Given the description of an element on the screen output the (x, y) to click on. 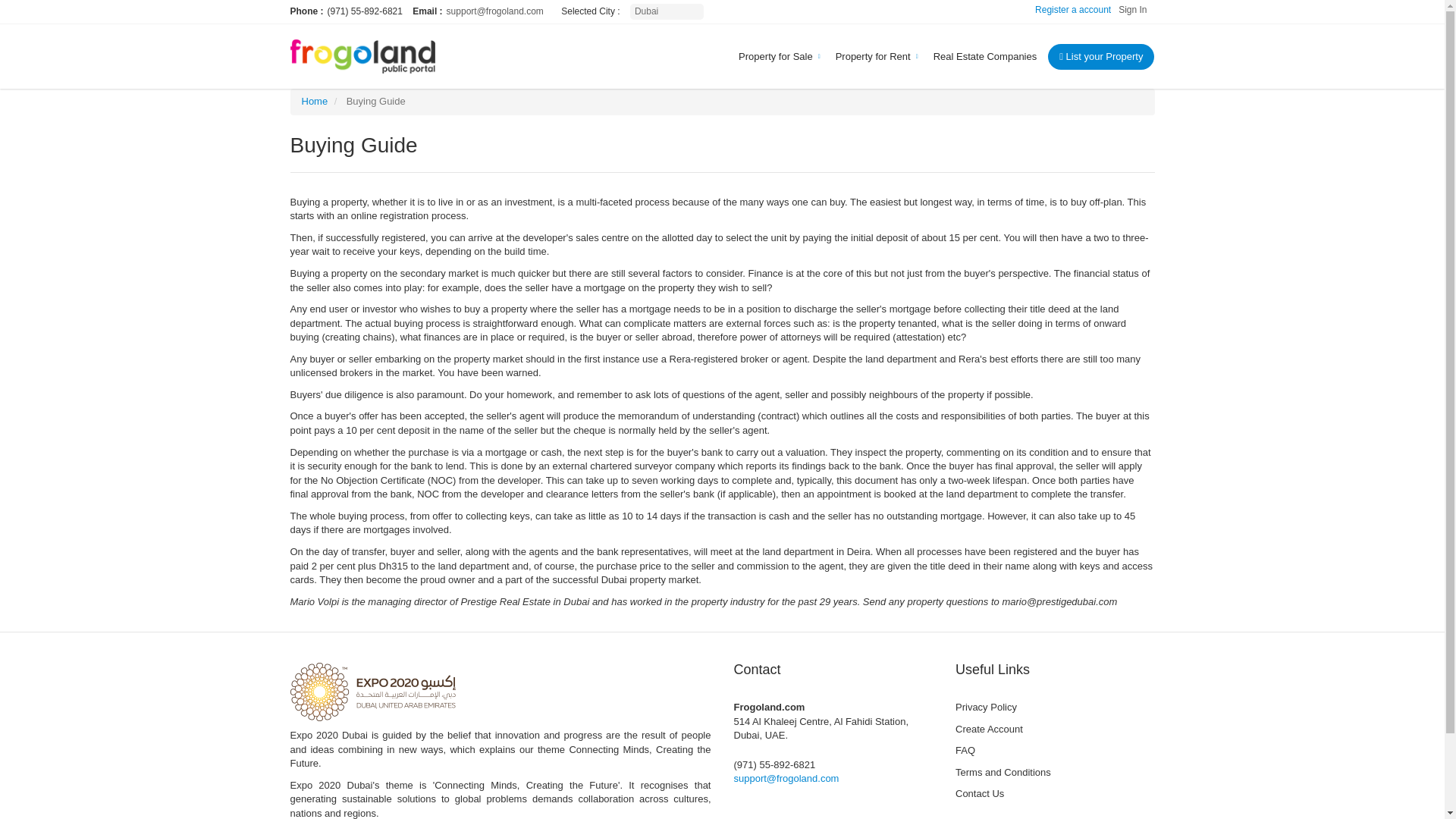
Privacy Policy (1054, 707)
FAQ (1054, 751)
Terms and Conditions (1054, 772)
Register a account (1076, 9)
Sign In (1136, 9)
Property for Rent (872, 56)
Property for Sale (775, 56)
Contact Us (1054, 793)
Real Estate Companies (984, 56)
Create Account (1054, 730)
List your Property (1101, 56)
Home (315, 101)
